Given the description of an element on the screen output the (x, y) to click on. 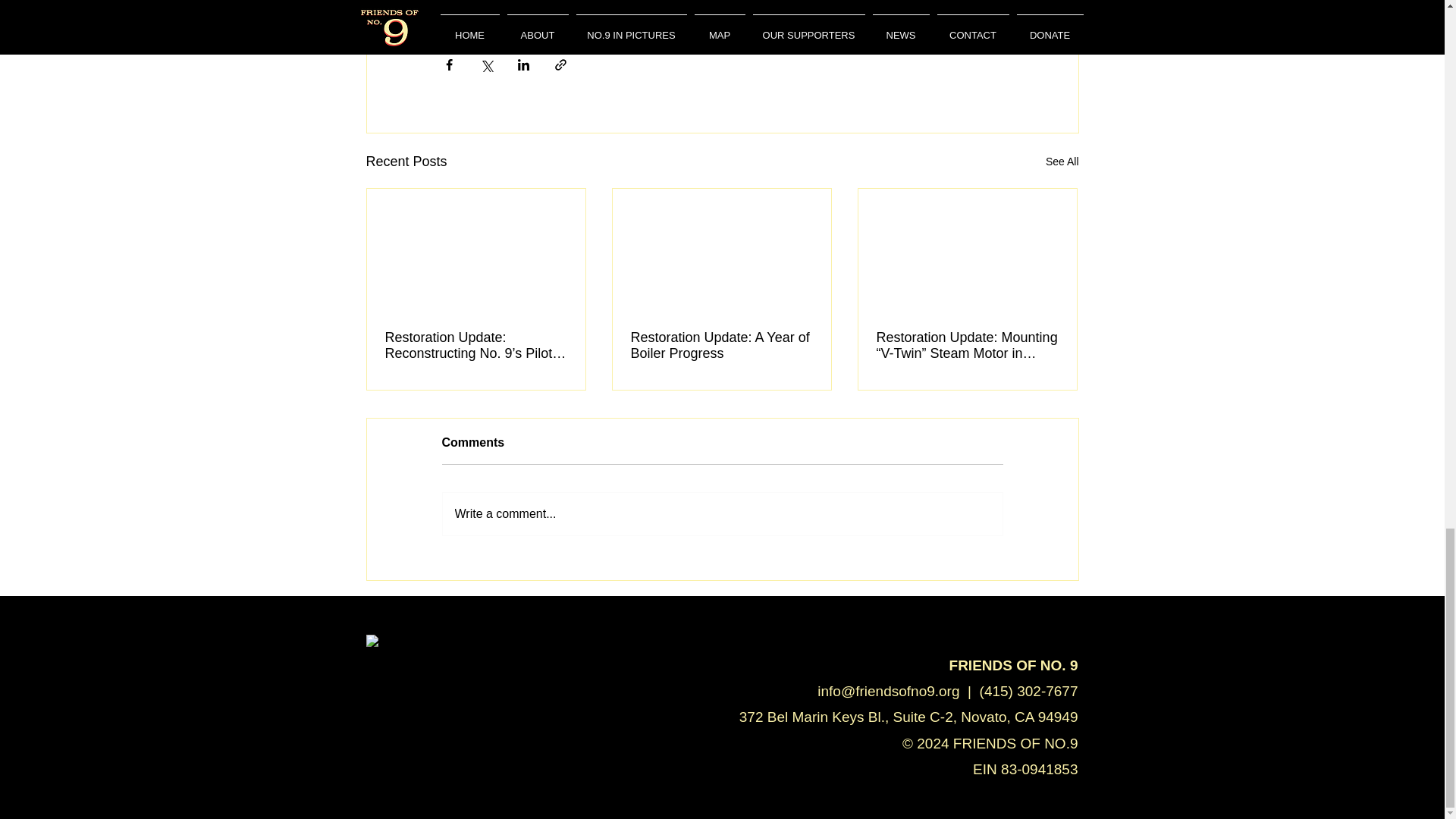
Write a comment... (722, 514)
See All (1061, 161)
Restoration Update: A Year of Boiler Progress (721, 345)
